Given the description of an element on the screen output the (x, y) to click on. 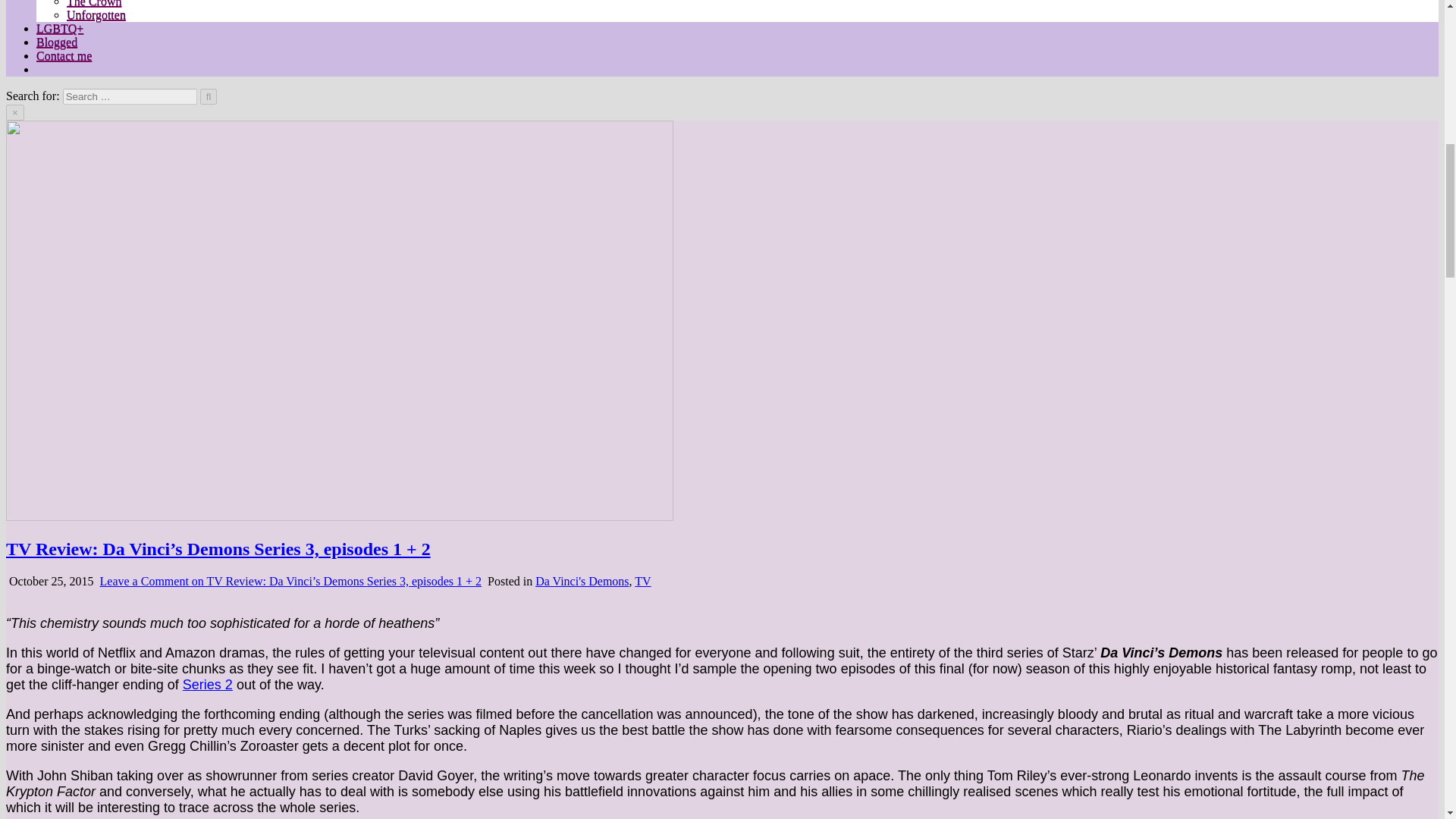
Close Search (14, 112)
